Given the description of an element on the screen output the (x, y) to click on. 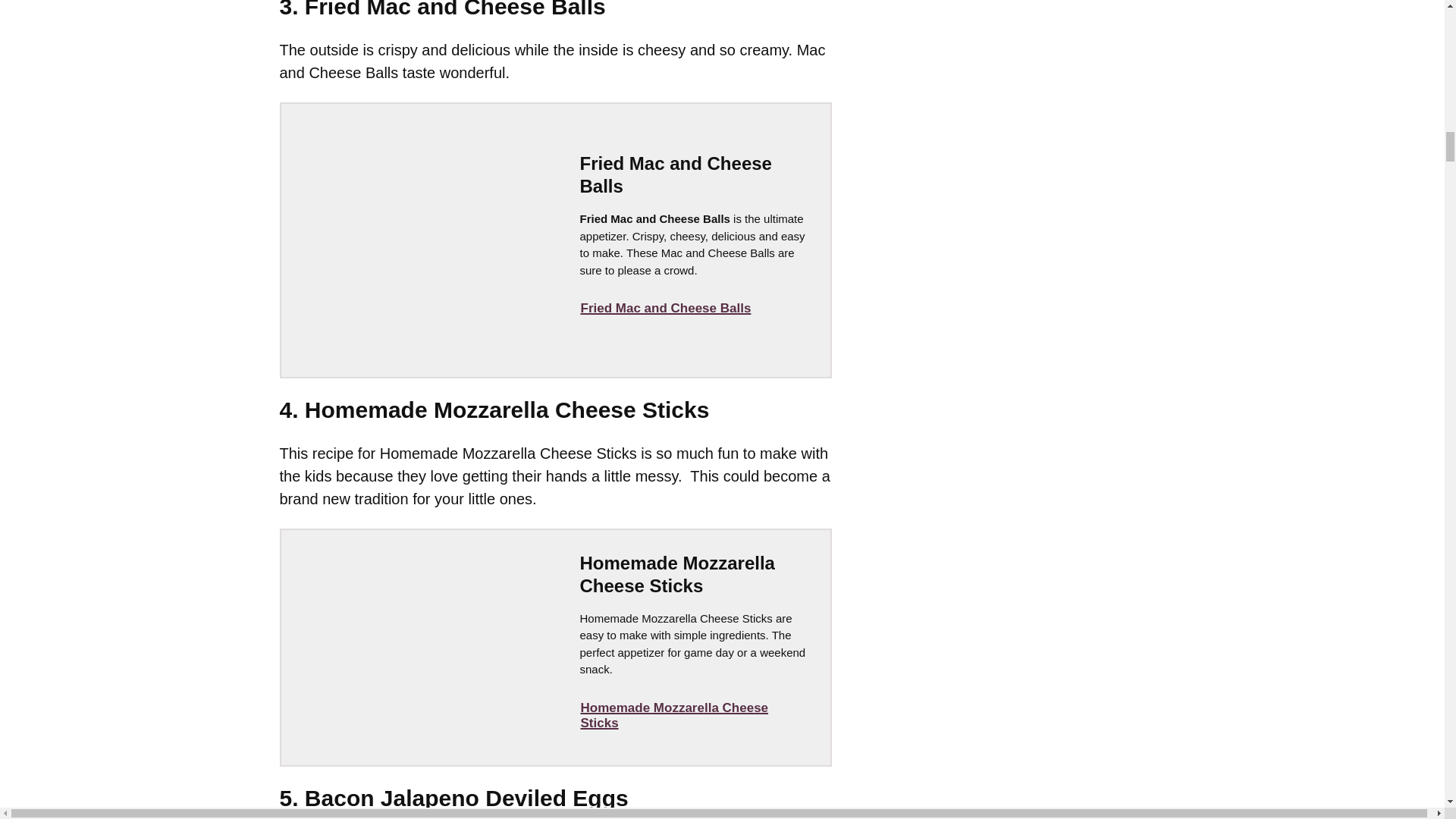
Homemade Mozzarella Cheese Sticks (691, 715)
Fried Mac and Cheese Balls (665, 308)
